Given the description of an element on the screen output the (x, y) to click on. 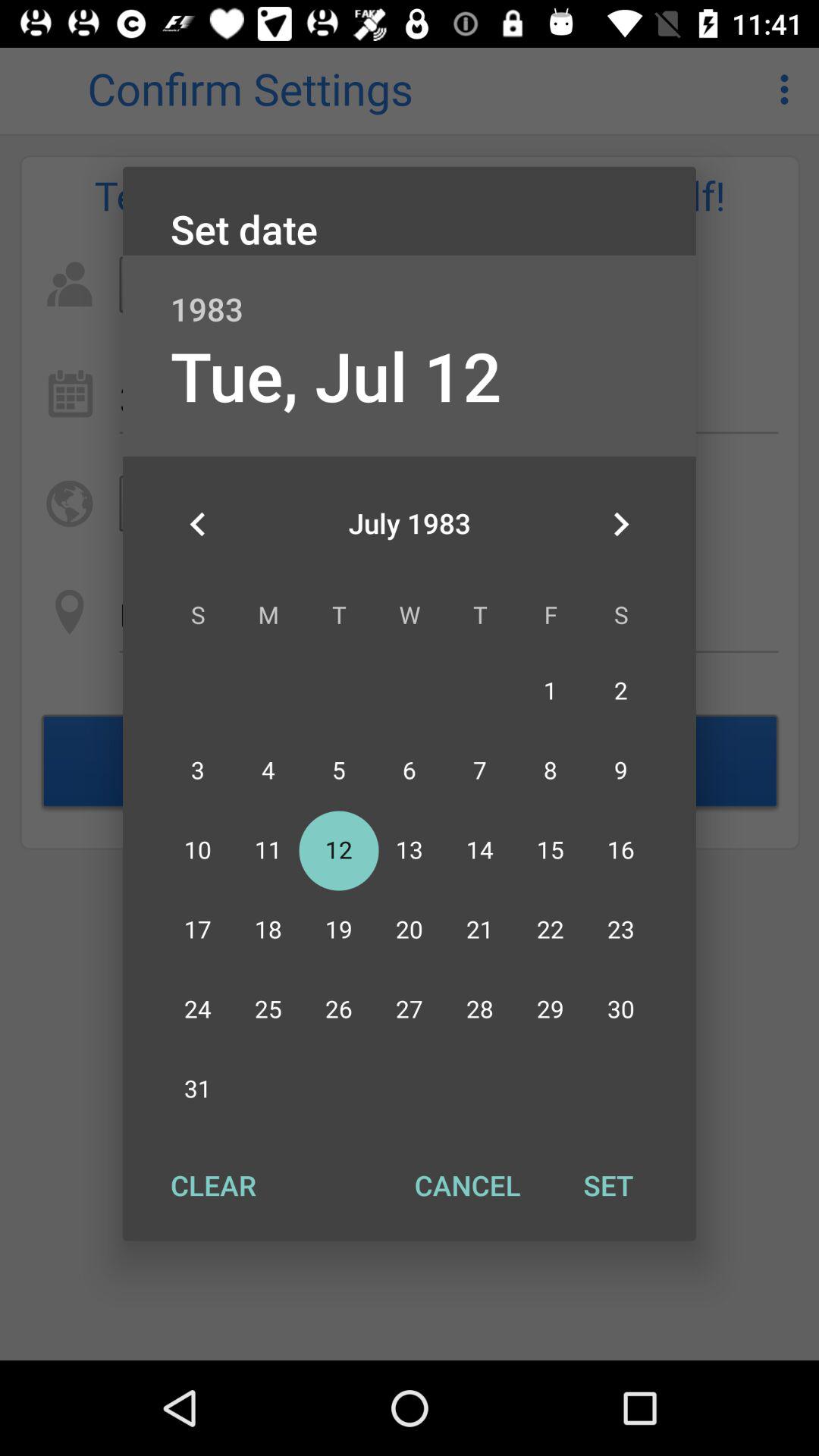
scroll until the clear item (213, 1185)
